Given the description of an element on the screen output the (x, y) to click on. 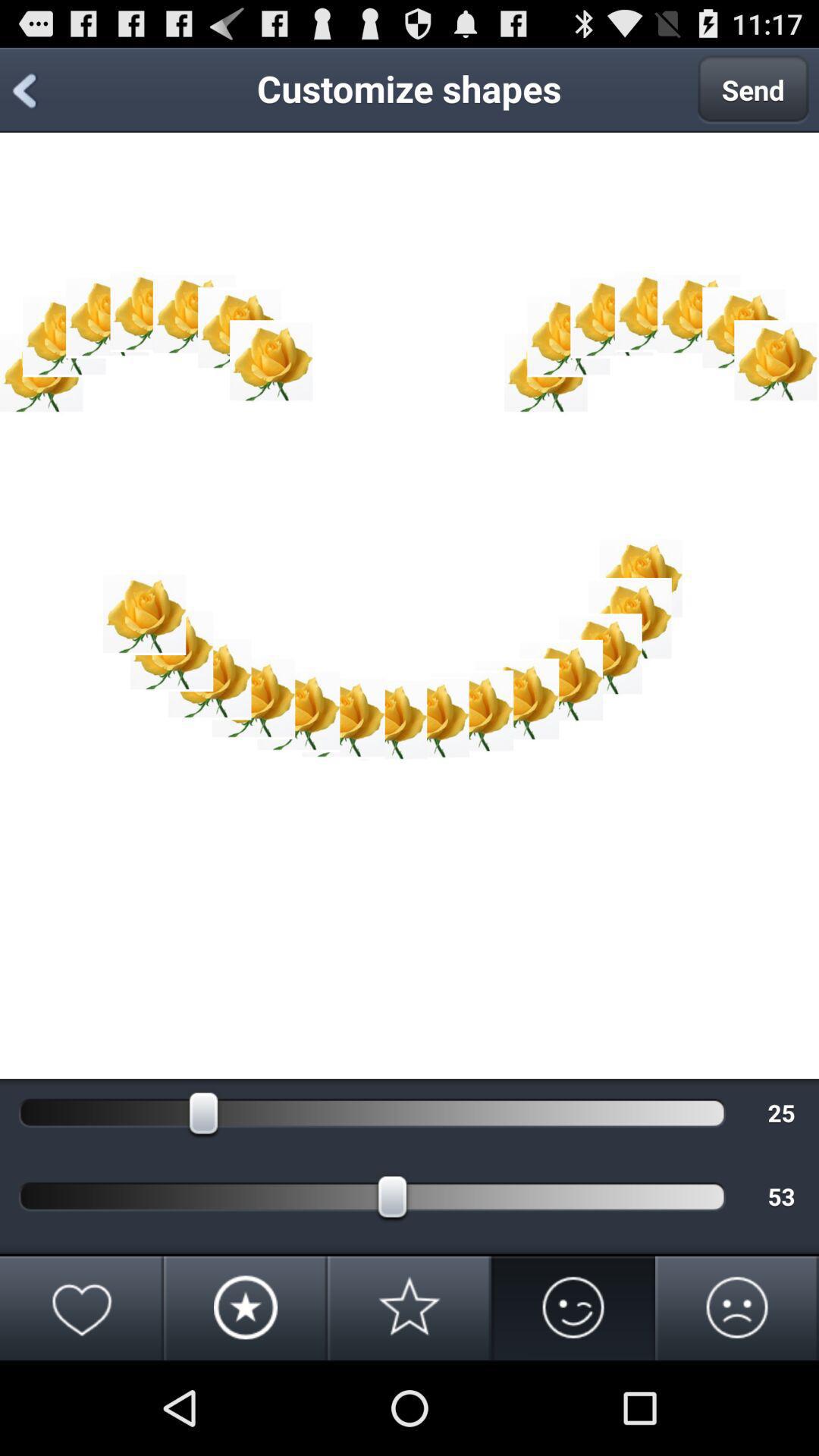
turn off the send item (752, 90)
